Given the description of an element on the screen output the (x, y) to click on. 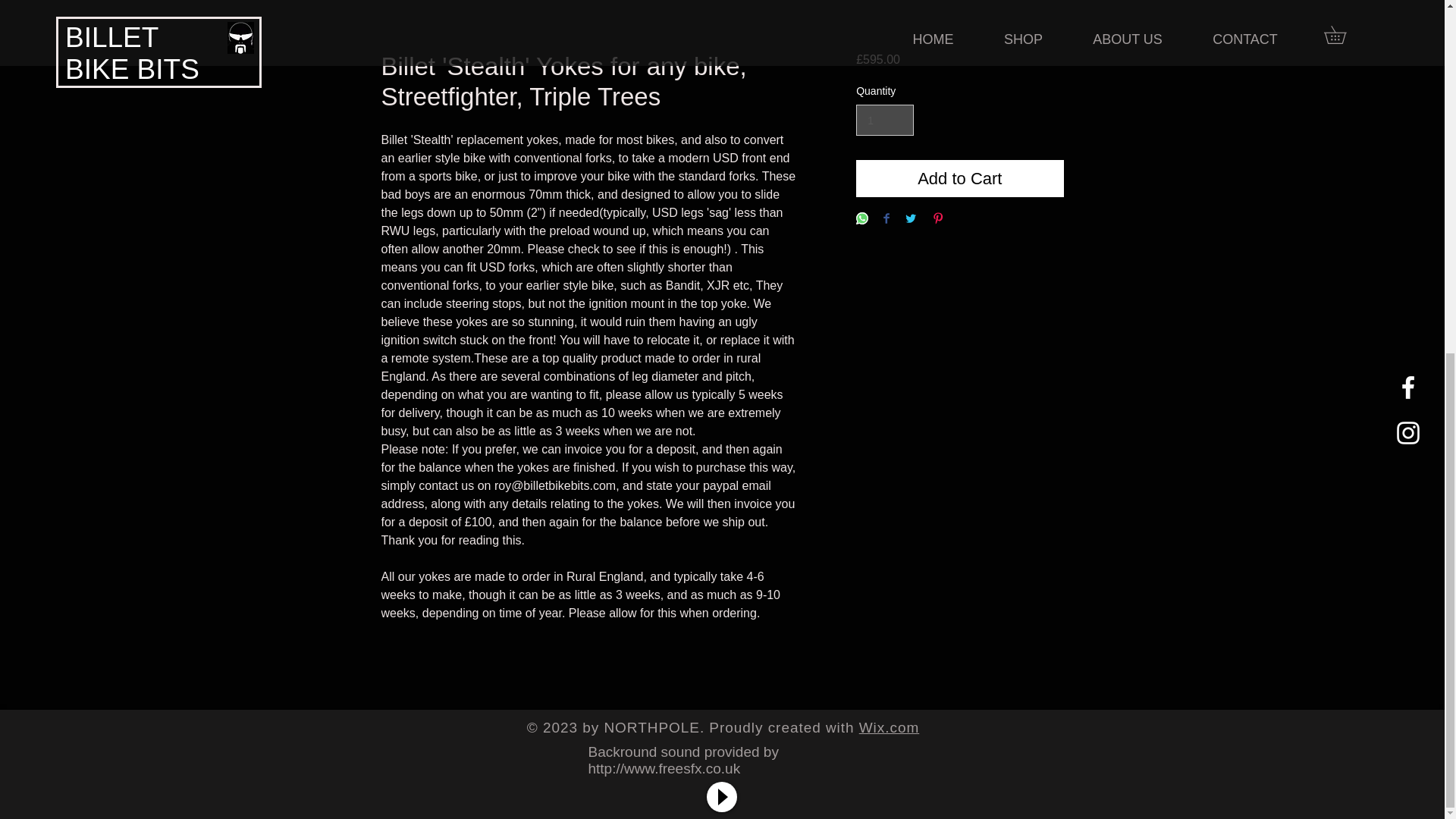
Wix.com (888, 727)
Add to Cart (959, 178)
1 (885, 119)
